Given the description of an element on the screen output the (x, y) to click on. 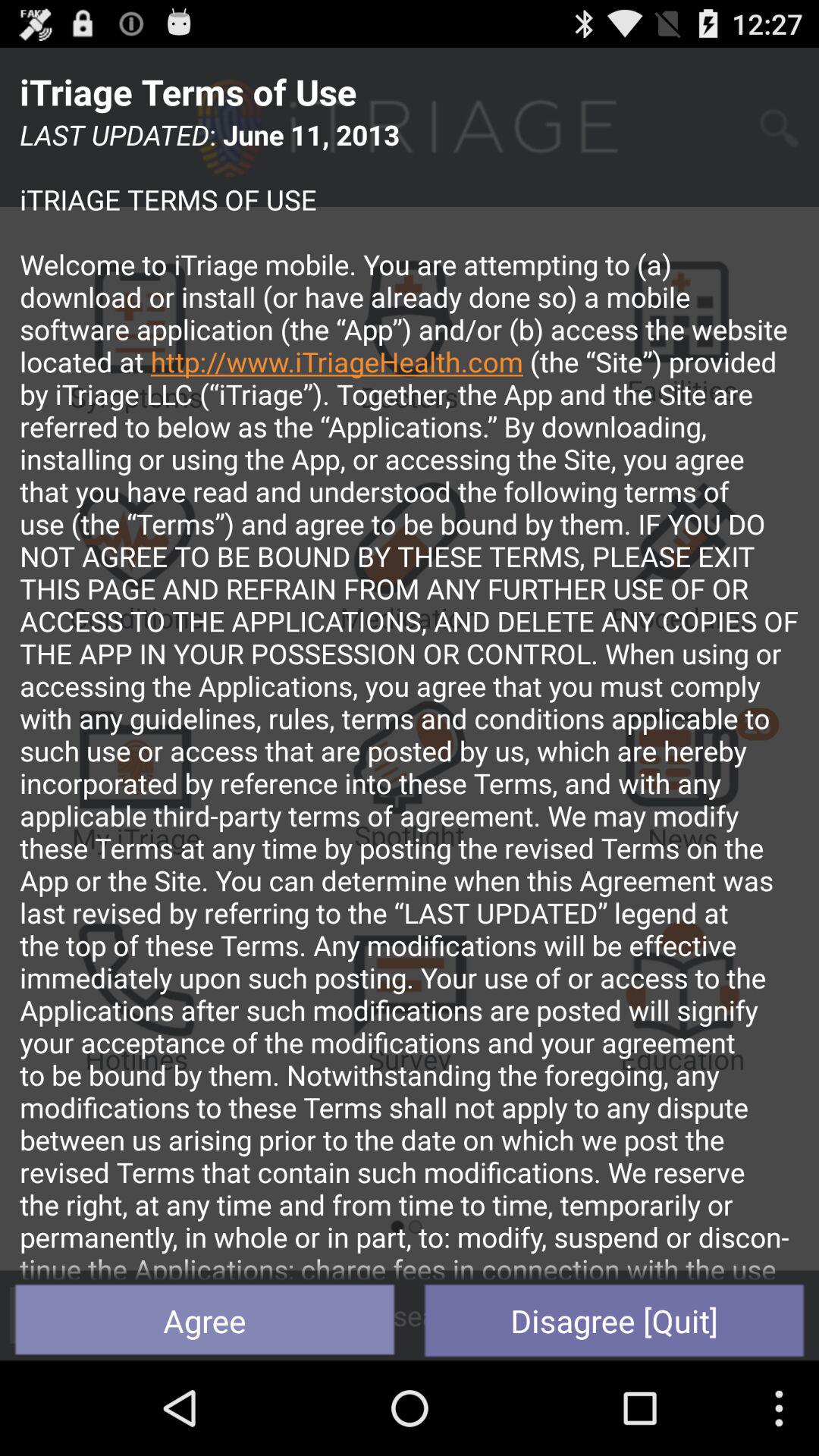
flip until the disagree [quit] button (613, 1320)
